Given the description of an element on the screen output the (x, y) to click on. 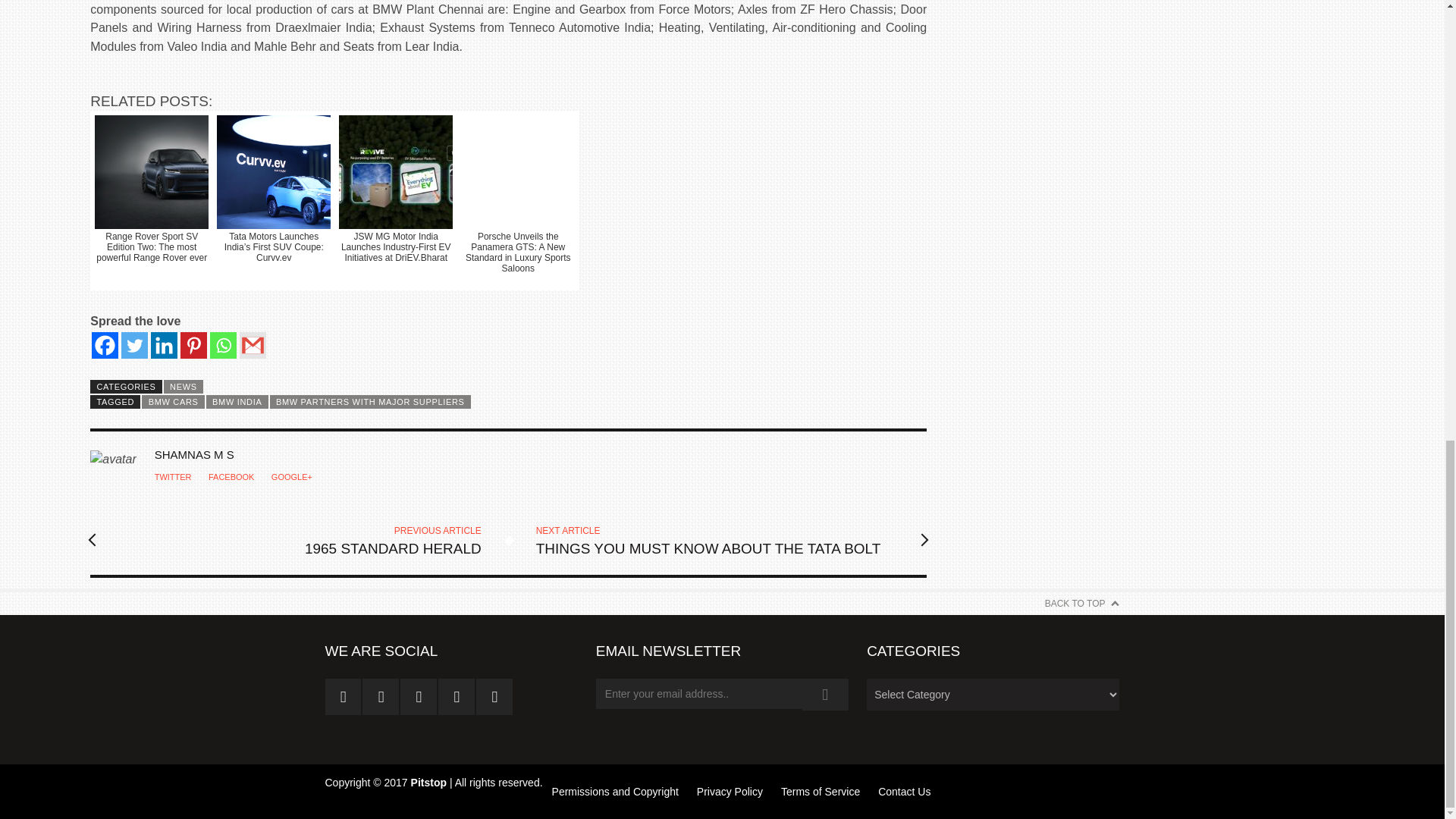
Pinterest (193, 345)
View all posts tagged BMW Cars (172, 401)
View all posts tagged BMW partners with major suppliers (369, 401)
Twitter (134, 345)
Google Gmail (253, 345)
View all posts tagged BMW India (236, 401)
Linkedin (164, 345)
View all posts in News (183, 386)
Whatsapp (222, 345)
Facebook (104, 345)
